Given the description of an element on the screen output the (x, y) to click on. 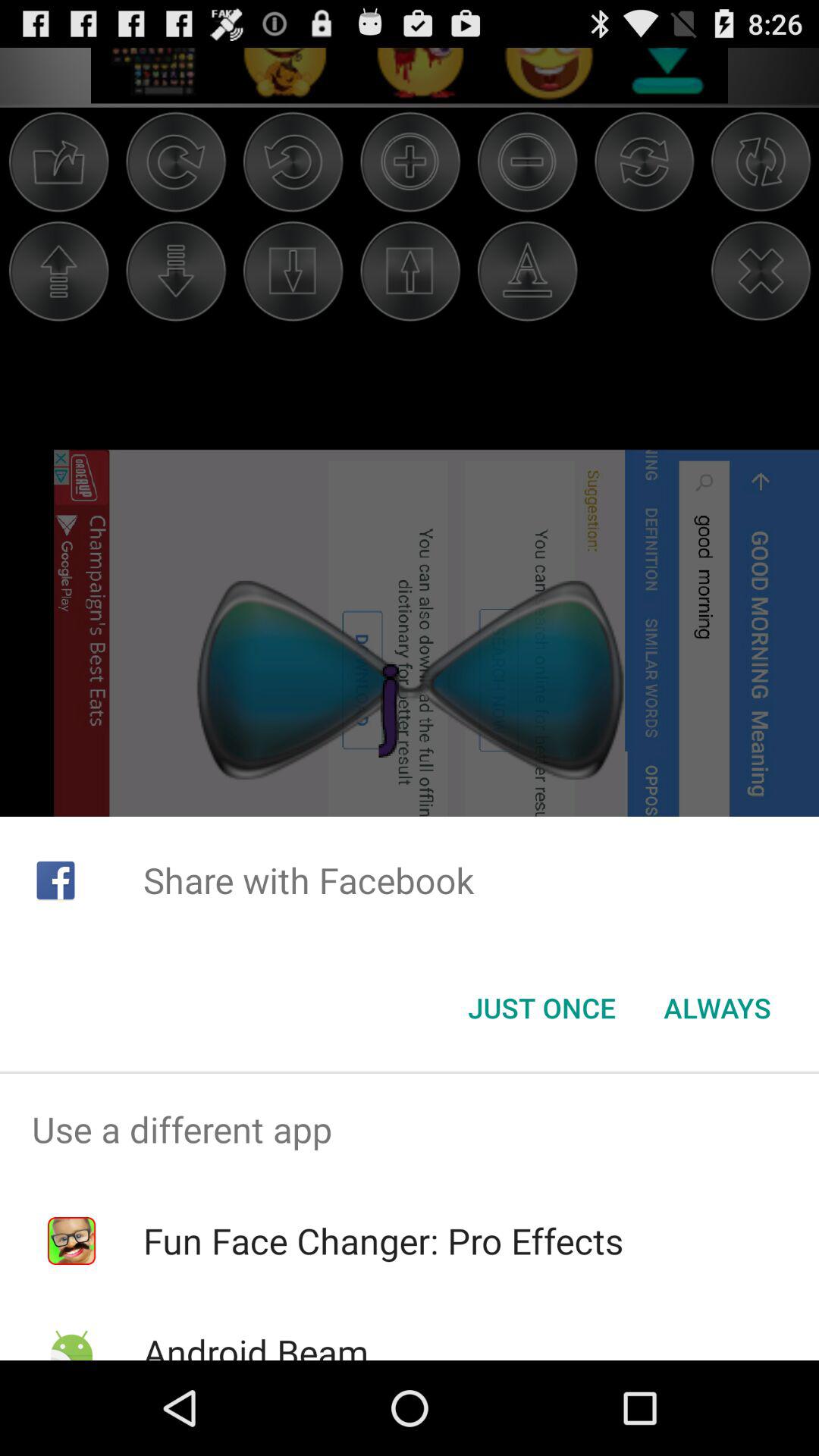
open the icon next to just once (717, 1007)
